Given the description of an element on the screen output the (x, y) to click on. 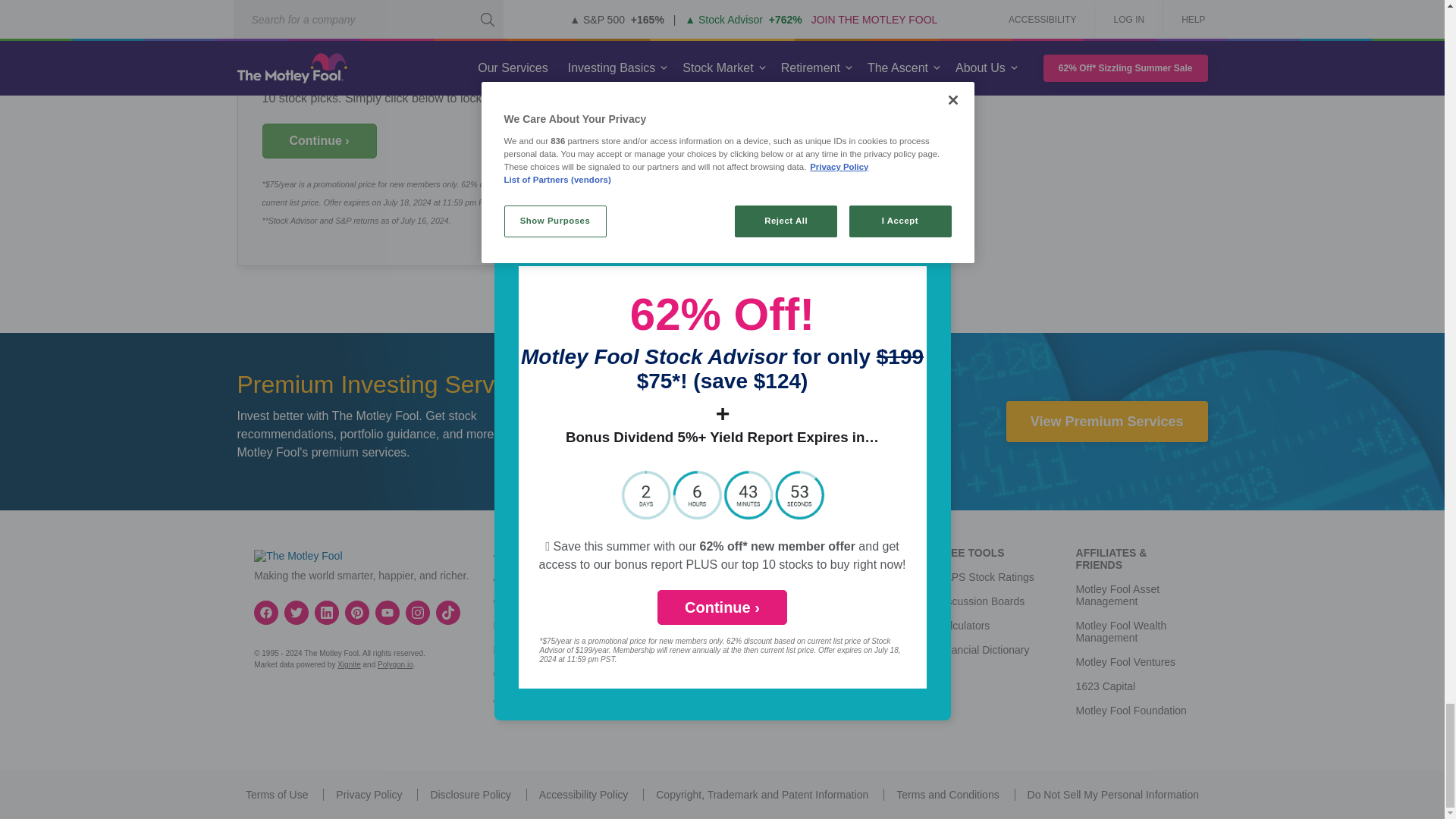
Terms of Use (276, 794)
Copyright, Trademark and Patent Information (761, 794)
Accessibility Policy (582, 794)
Do Not Sell My Personal Information. (1112, 794)
Disclosure Policy (470, 794)
Terms and Conditions (947, 794)
Privacy Policy (368, 794)
